Given the description of an element on the screen output the (x, y) to click on. 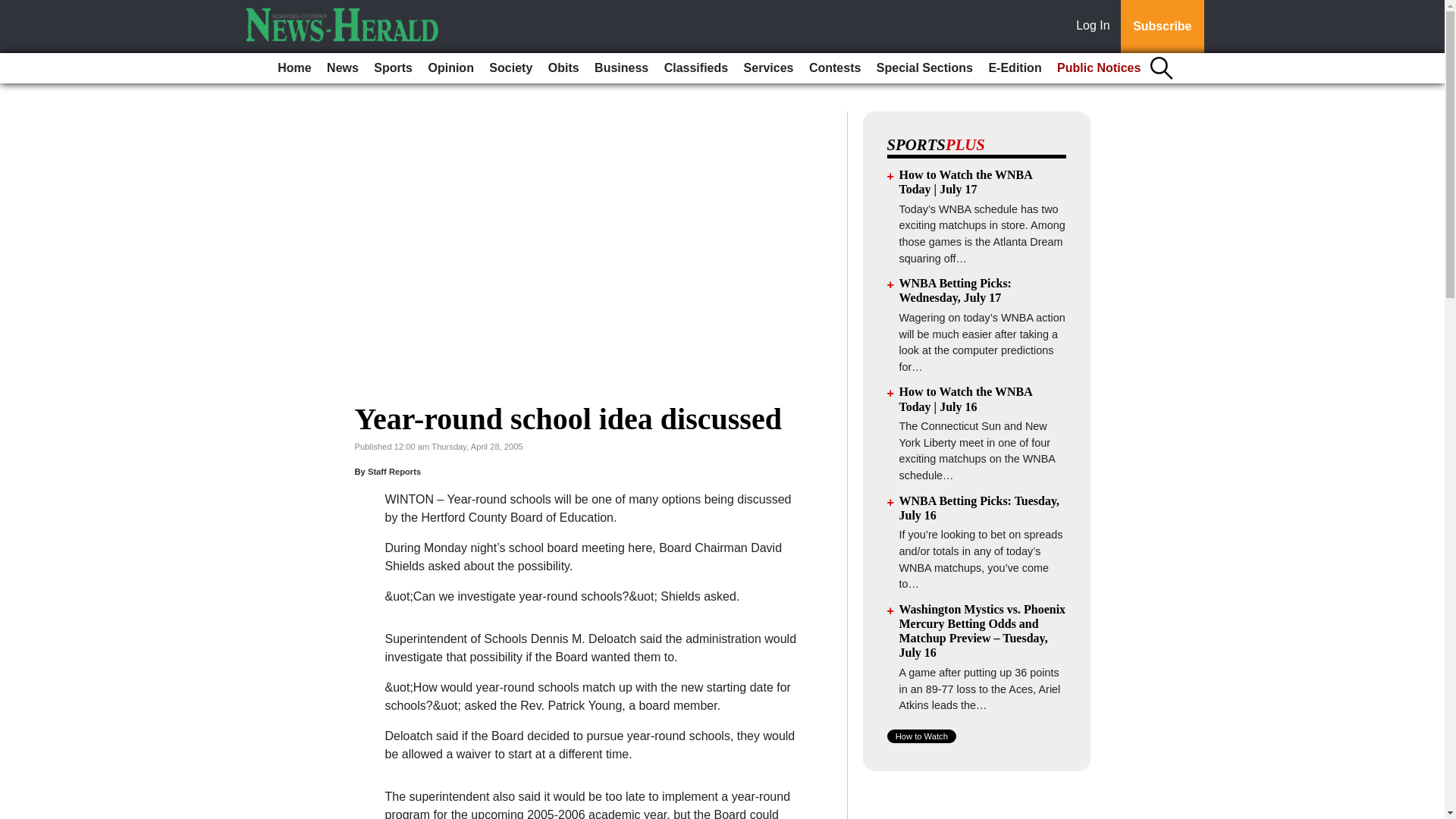
E-Edition (1013, 68)
Services (768, 68)
Log In (1095, 26)
Society (510, 68)
Business (620, 68)
Staff Reports (394, 470)
Sports (393, 68)
Go (13, 9)
Contests (834, 68)
Special Sections (924, 68)
Obits (563, 68)
Public Notices (1099, 68)
Classifieds (695, 68)
News (342, 68)
Subscribe (1162, 26)
